Given the description of an element on the screen output the (x, y) to click on. 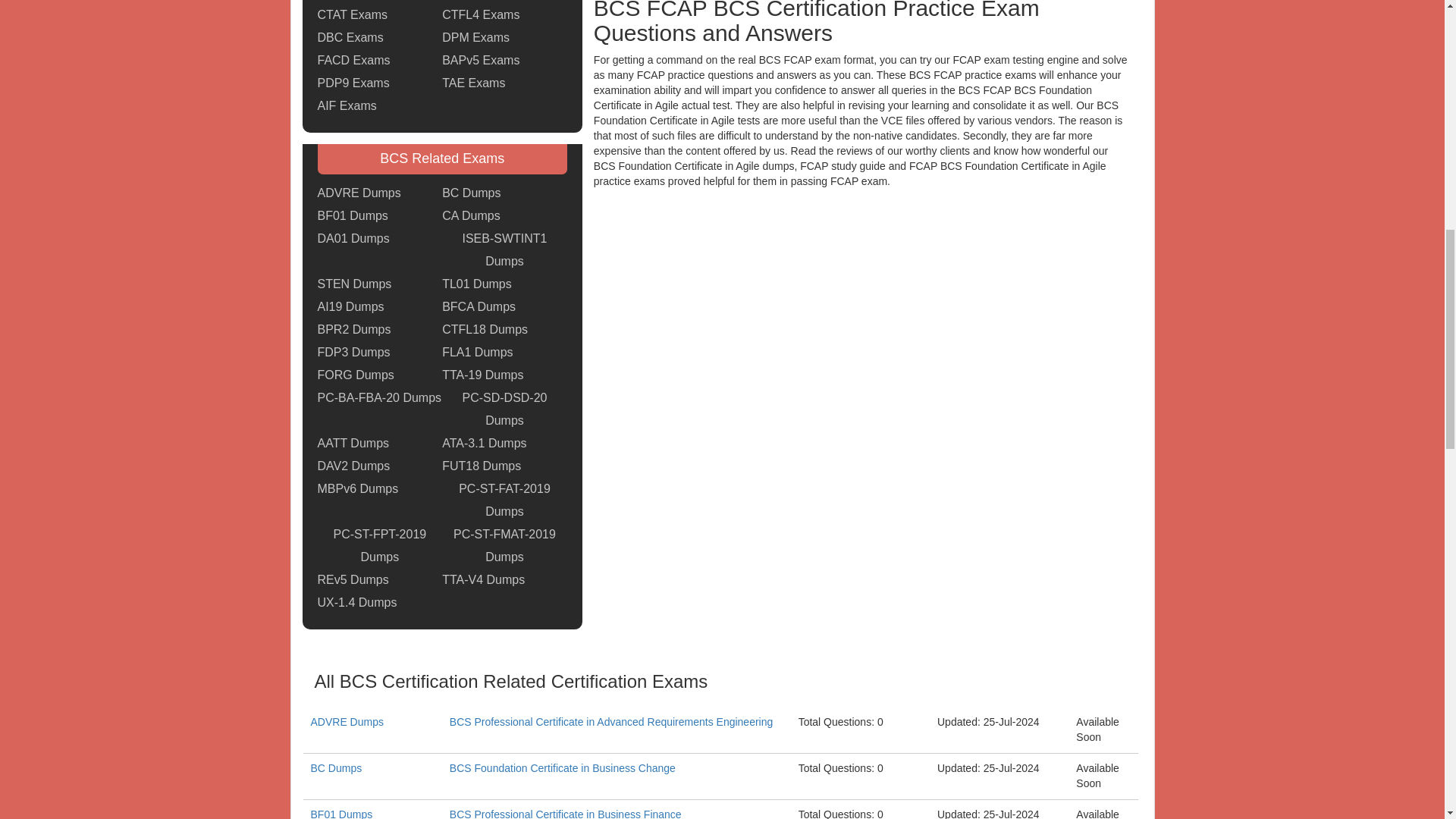
PDP9 Exams (352, 83)
PC-BA-PRABA-2020 Exams (379, 2)
BAPv5 Exams (480, 60)
CTAT Exams (352, 15)
FACD Exams (353, 60)
TAE Exams (473, 83)
PC-BA-PRABA-2020 (379, 2)
CTAT (352, 15)
BF02 Exams (477, 2)
DPM Exams (475, 37)
BF02 (477, 2)
CTFL4 Exams (480, 15)
DBC Exams (349, 37)
